Given the description of an element on the screen output the (x, y) to click on. 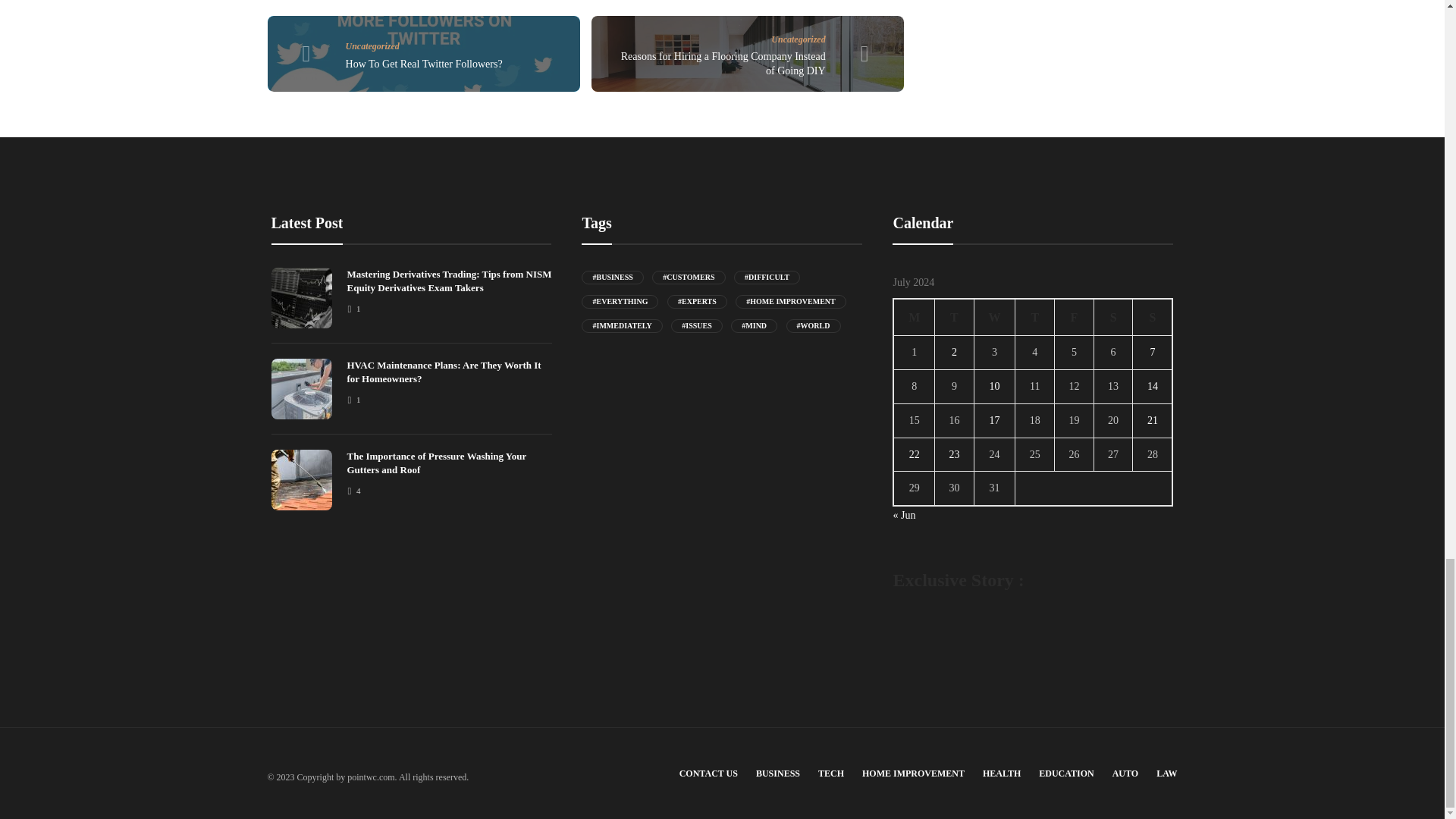
Thursday (1034, 316)
Sunday (1152, 316)
Monday (913, 316)
Wednesday (994, 316)
Friday (1074, 316)
Saturday (1112, 316)
Tuesday (954, 316)
